Given the description of an element on the screen output the (x, y) to click on. 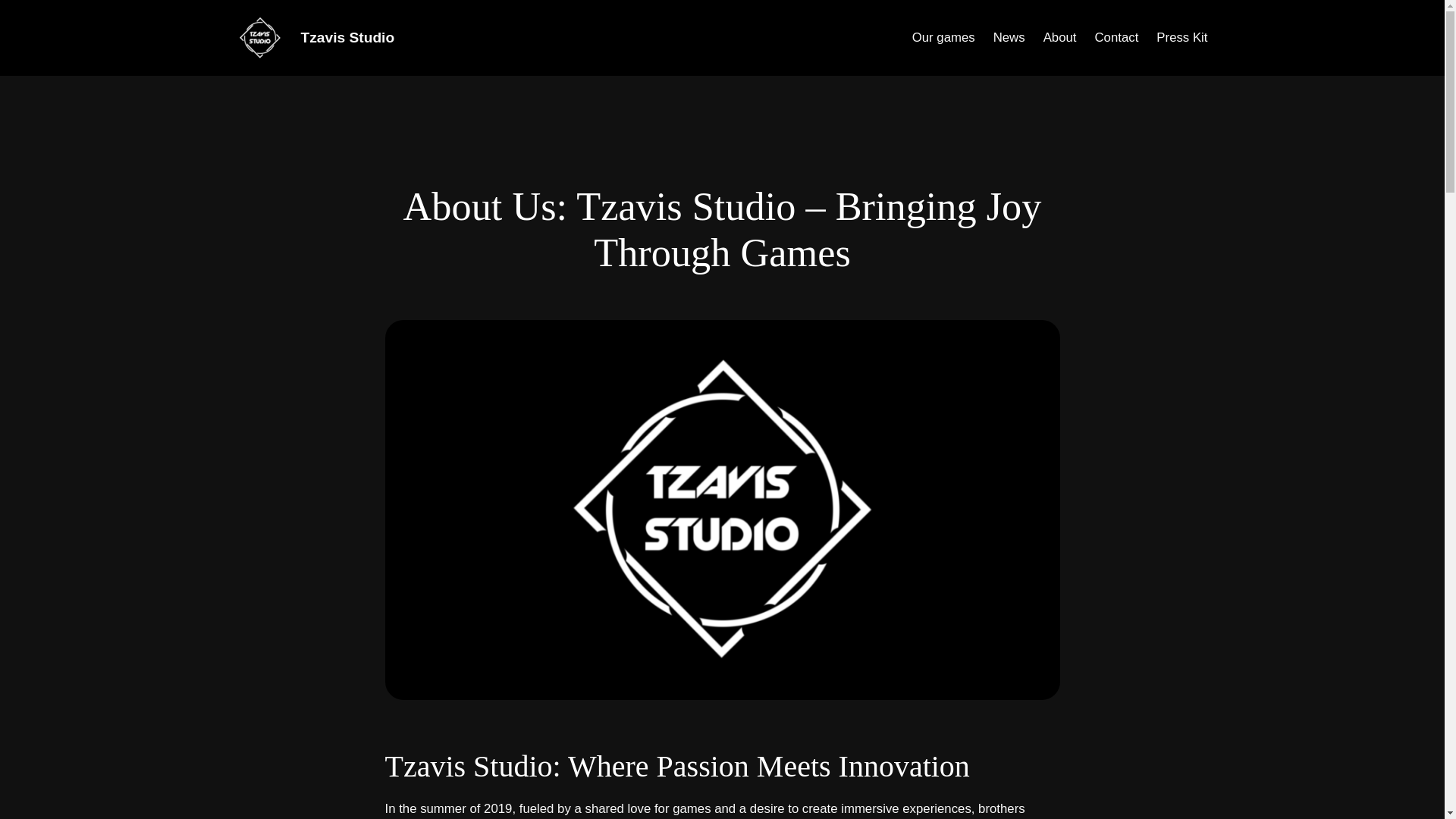
Press Kit (1181, 37)
Our games (943, 37)
Tzavis Studio (346, 37)
Contact (1116, 37)
News (1008, 37)
About (1060, 37)
